Given the description of an element on the screen output the (x, y) to click on. 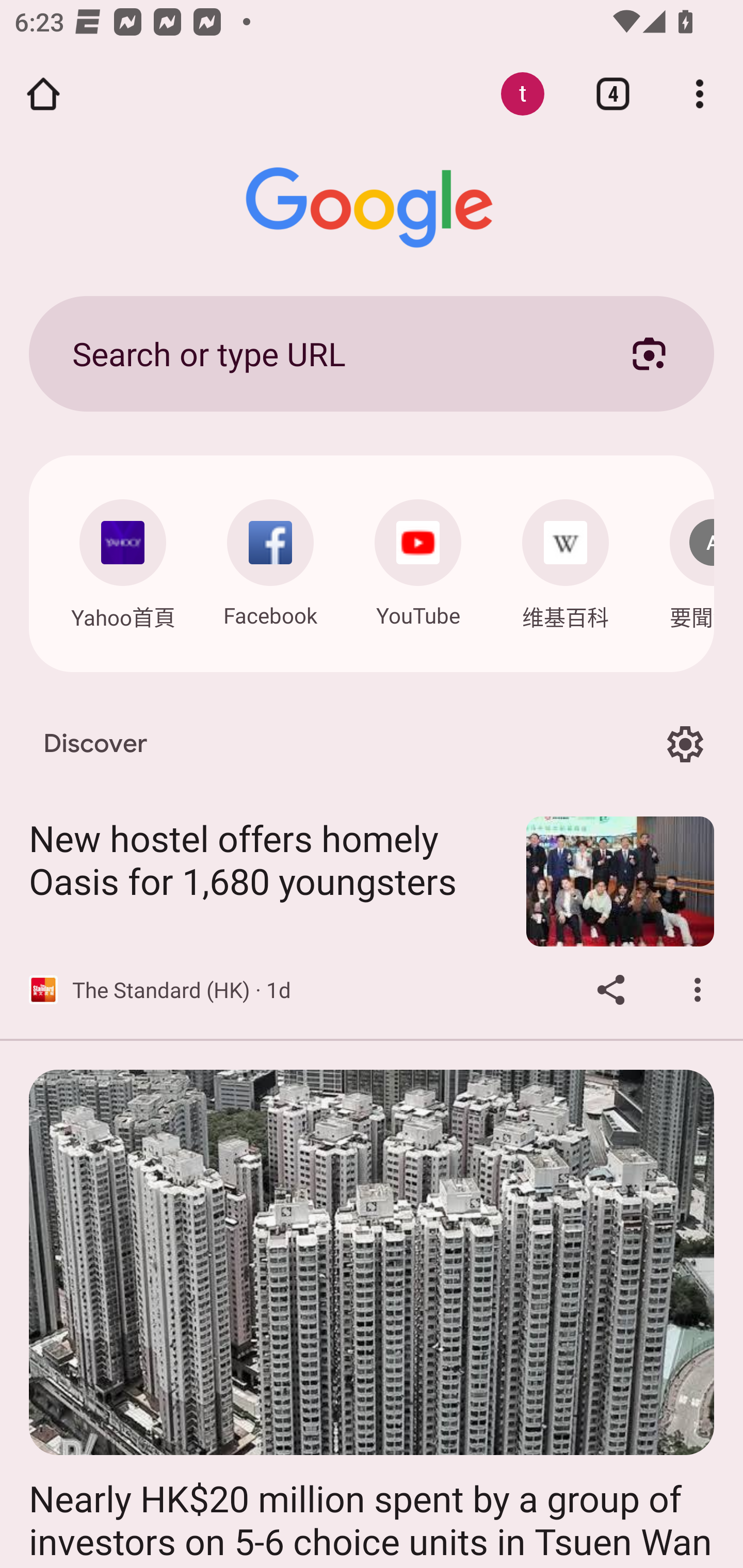
Open the home page (43, 93)
Switch or close tabs (612, 93)
Customize and control Google Chrome (699, 93)
Search or type URL (327, 353)
Search with your camera using Google Lens (648, 353)
Navigate: Yahoo首頁: hk.mobi.yahoo.com Yahoo首頁 (122, 558)
Navigate: Facebook: m.facebook.com Facebook (270, 558)
Navigate: YouTube: m.youtube.com YouTube (417, 558)
Navigate: 维基百科: zh.m.wikipedia.org 维基百科 (565, 558)
Options for Discover (684, 743)
